Given the description of an element on the screen output the (x, y) to click on. 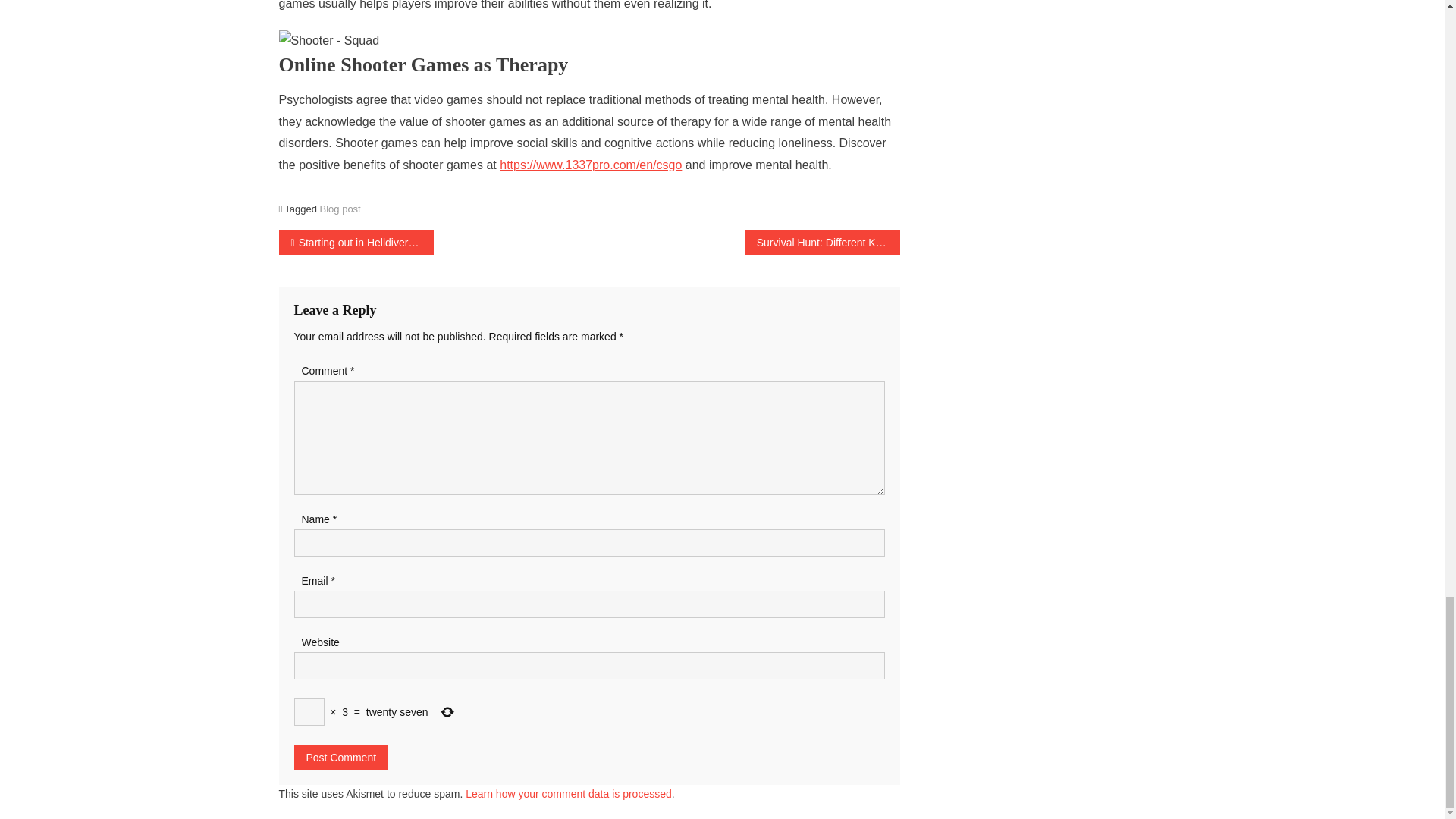
Learn how your comment data is processed (568, 793)
Blog post (340, 208)
Starting out in Helldivers 2 (356, 242)
Post Comment (341, 756)
Post Comment (341, 756)
